Given the description of an element on the screen output the (x, y) to click on. 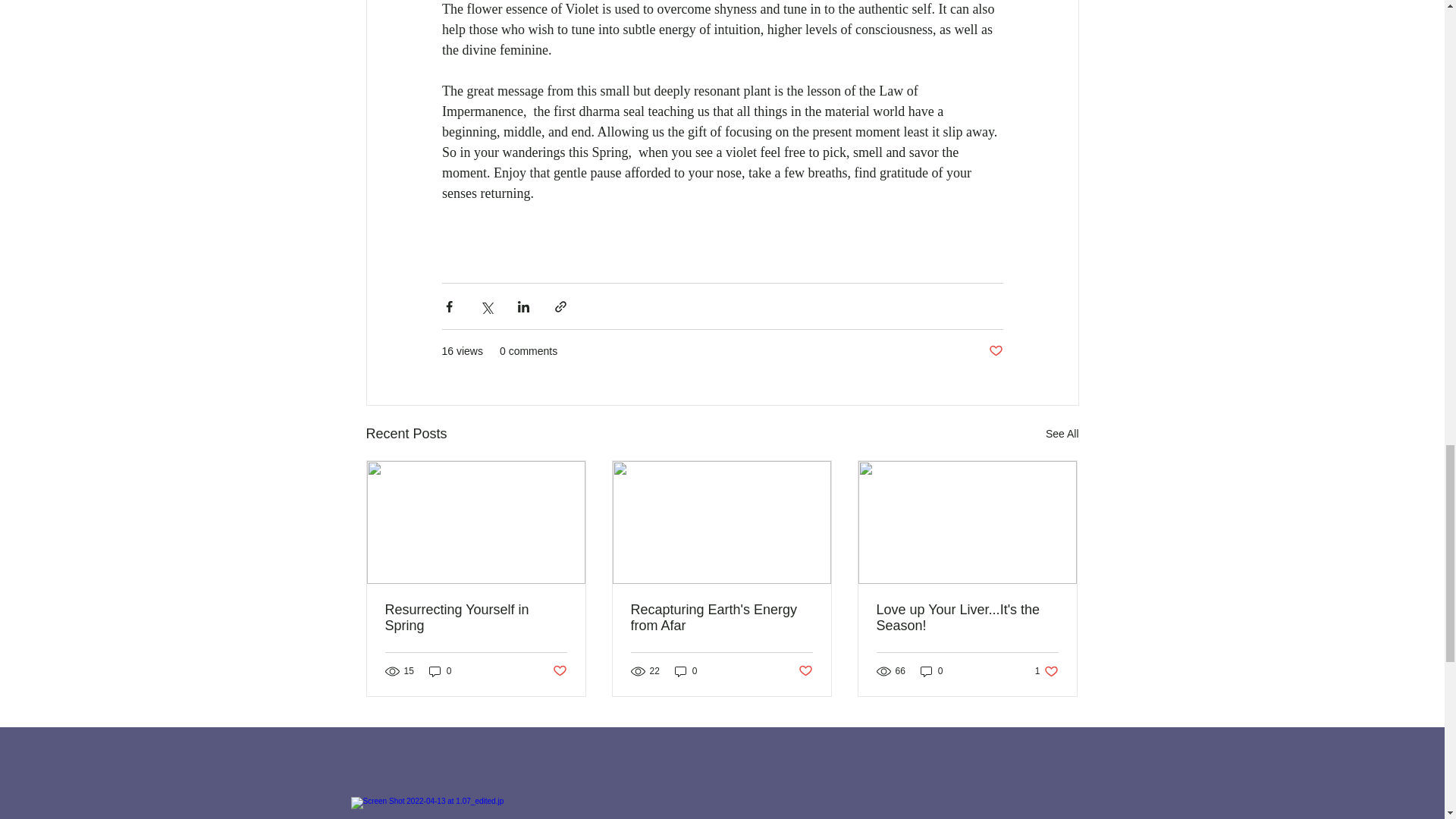
0 (685, 671)
0 (440, 671)
Post not marked as liked (558, 670)
See All (1061, 434)
Post not marked as liked (804, 670)
Recapturing Earth's Energy from Afar (721, 617)
Post not marked as liked (995, 351)
Resurrecting Yourself in Spring (476, 617)
